Given the description of an element on the screen output the (x, y) to click on. 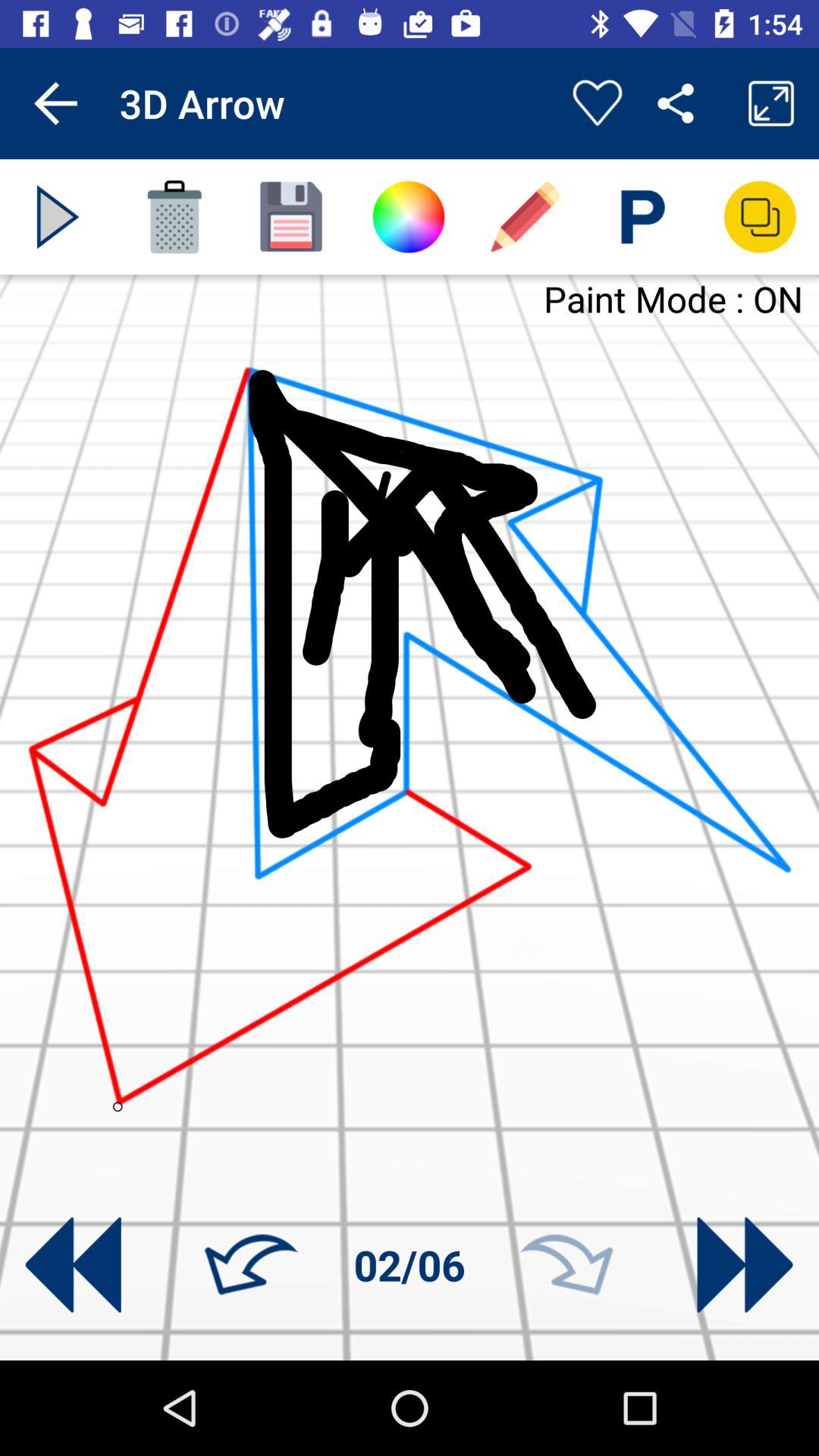
undo action (251, 1264)
